Given the description of an element on the screen output the (x, y) to click on. 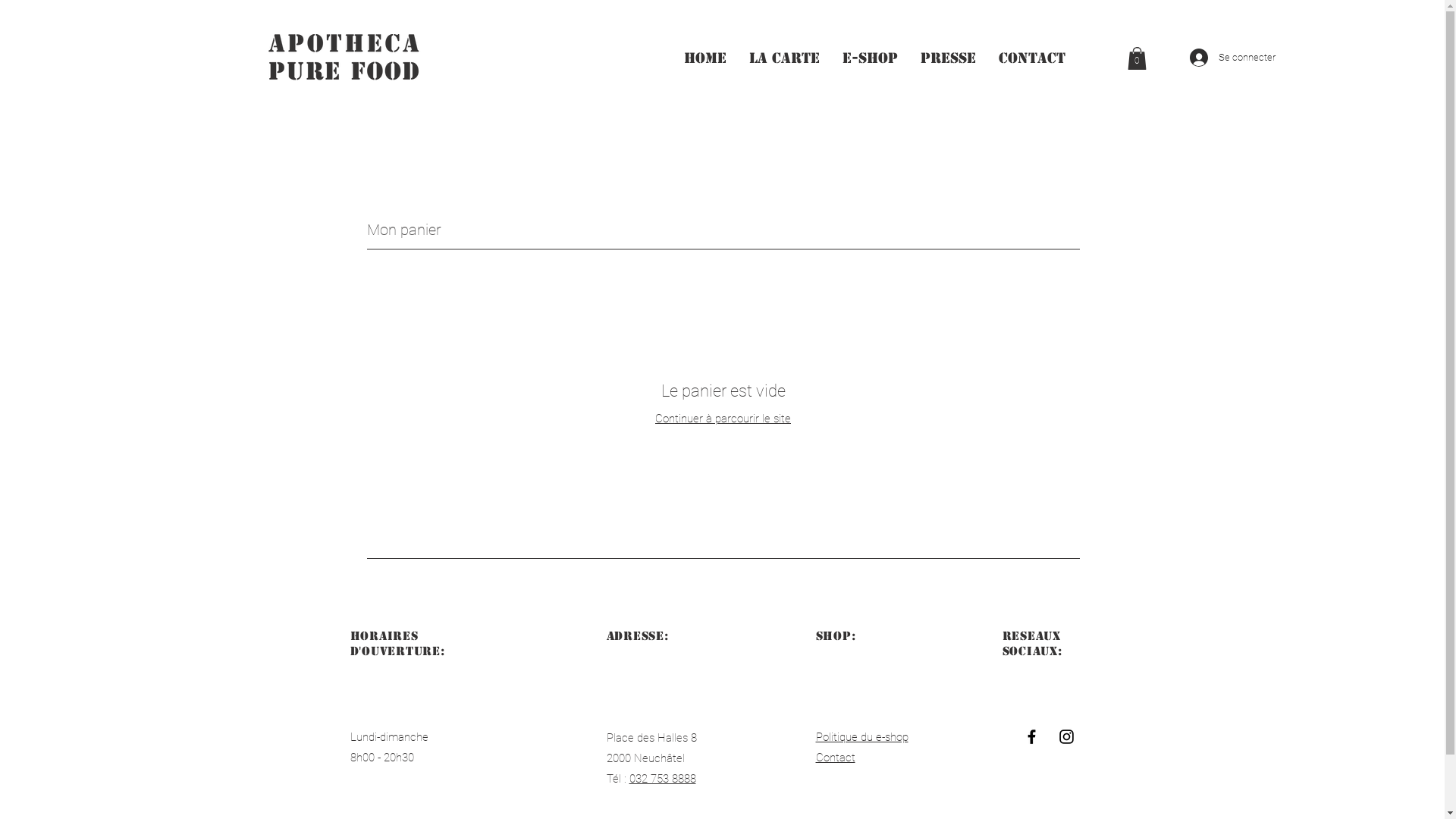
LA CARTE Element type: text (783, 58)
Contact Element type: text (835, 757)
CONTACT Element type: text (1031, 58)
Apotheca_Gris_SansFond .png Element type: hover (342, 57)
Politique du e-shop Element type: text (861, 737)
HOME Element type: text (704, 58)
Se connecter Element type: text (1208, 57)
PRESSE Element type: text (947, 58)
E-SHOP Element type: text (870, 58)
0 Element type: text (1135, 58)
